Given the description of an element on the screen output the (x, y) to click on. 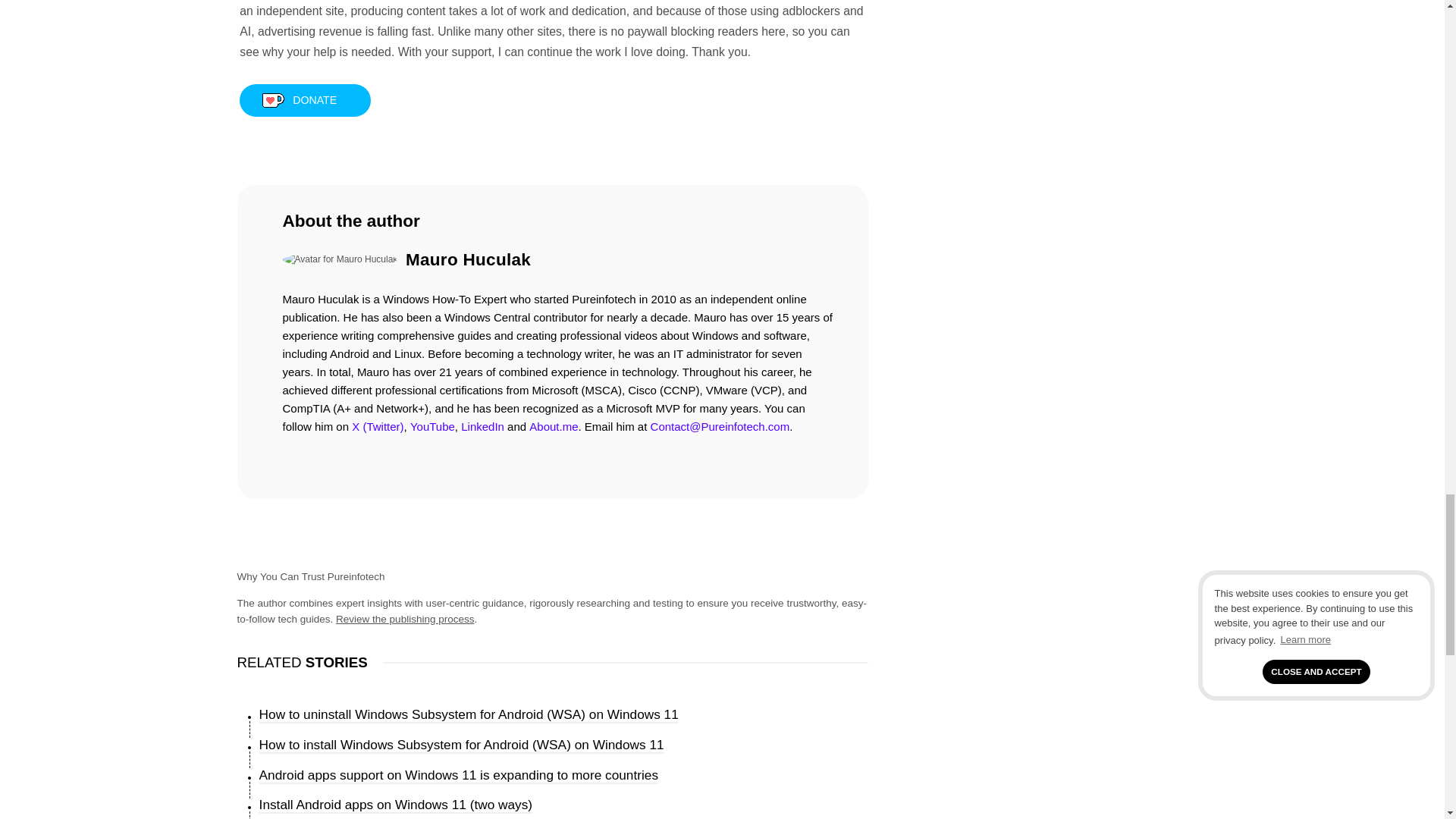
LinkedIn (482, 426)
About.me (553, 426)
LinkedIn (482, 426)
Support Pureinfotech (305, 100)
YouTube (432, 426)
YouTube (432, 426)
Email Mauro (720, 426)
X (377, 426)
Gravatar for Mauro Huculak (339, 259)
DONATE (305, 100)
Review the publishing process (405, 618)
Mauro Huculak (468, 259)
Posts by Mauro Huculak (468, 259)
Reasons to trust Pureinfotech (405, 618)
About.me (553, 426)
